Given the description of an element on the screen output the (x, y) to click on. 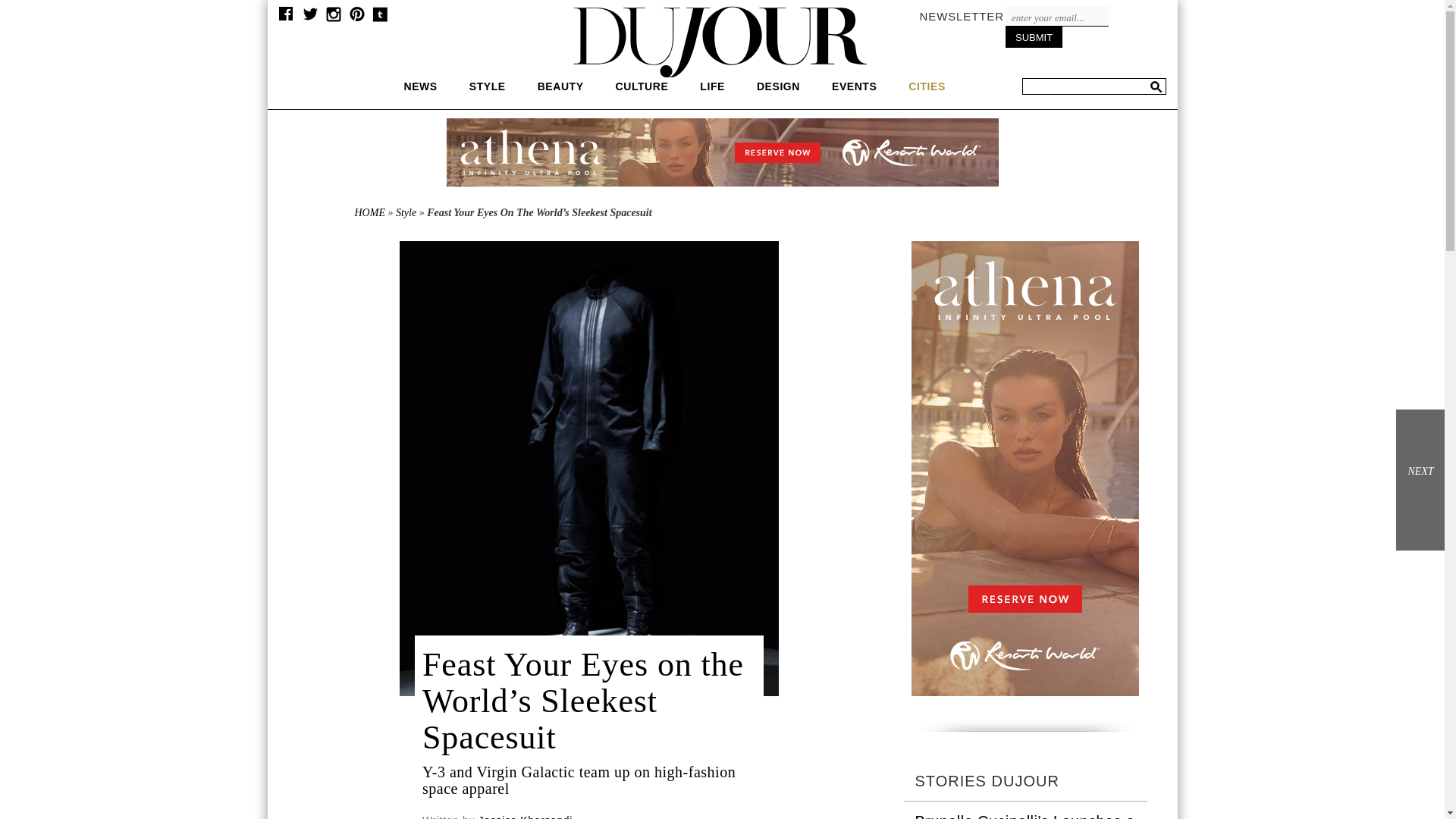
SUBMIT (1034, 36)
